Given the description of an element on the screen output the (x, y) to click on. 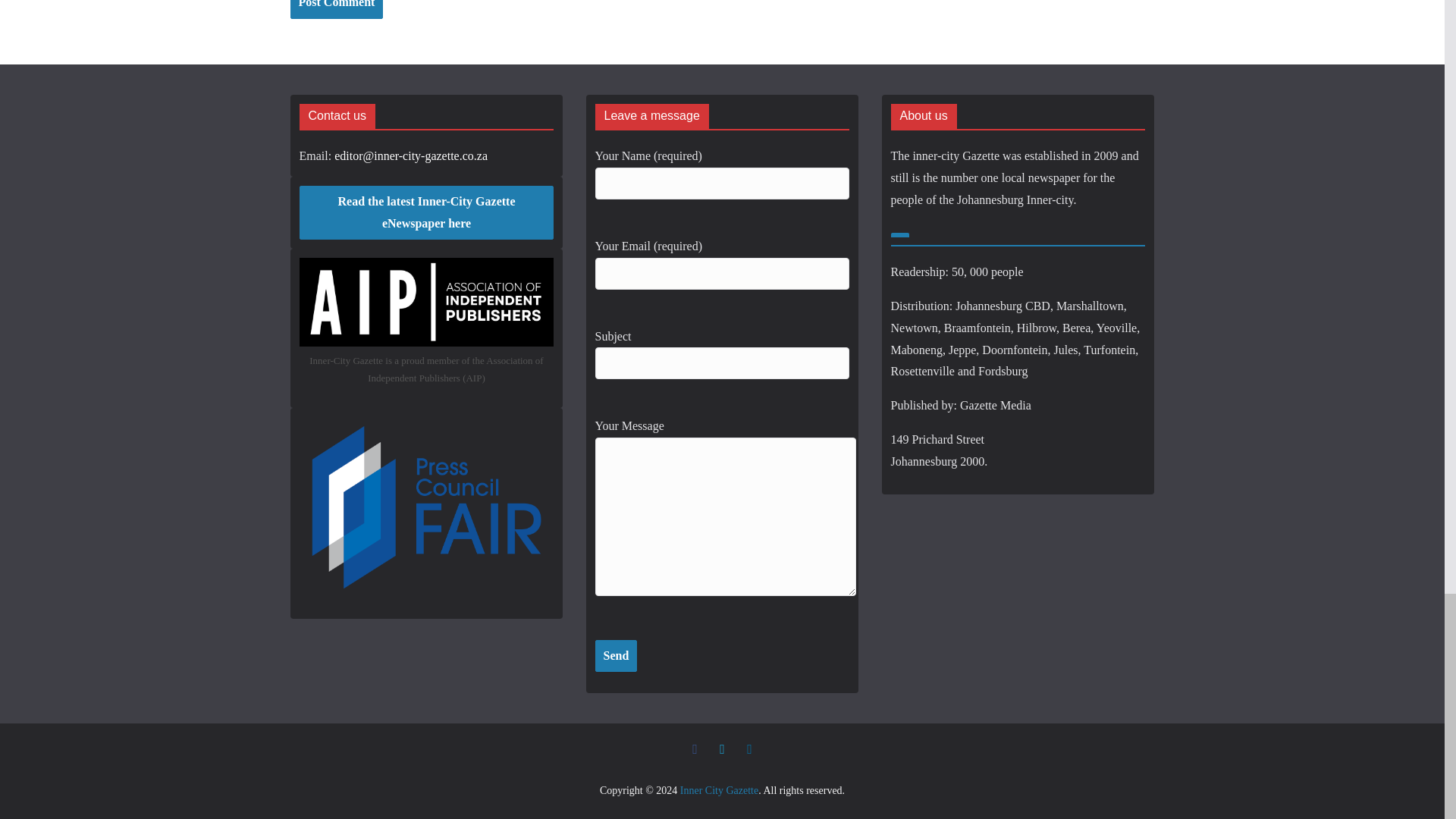
Send (615, 655)
Post Comment (335, 9)
Post Comment (335, 9)
